Given the description of an element on the screen output the (x, y) to click on. 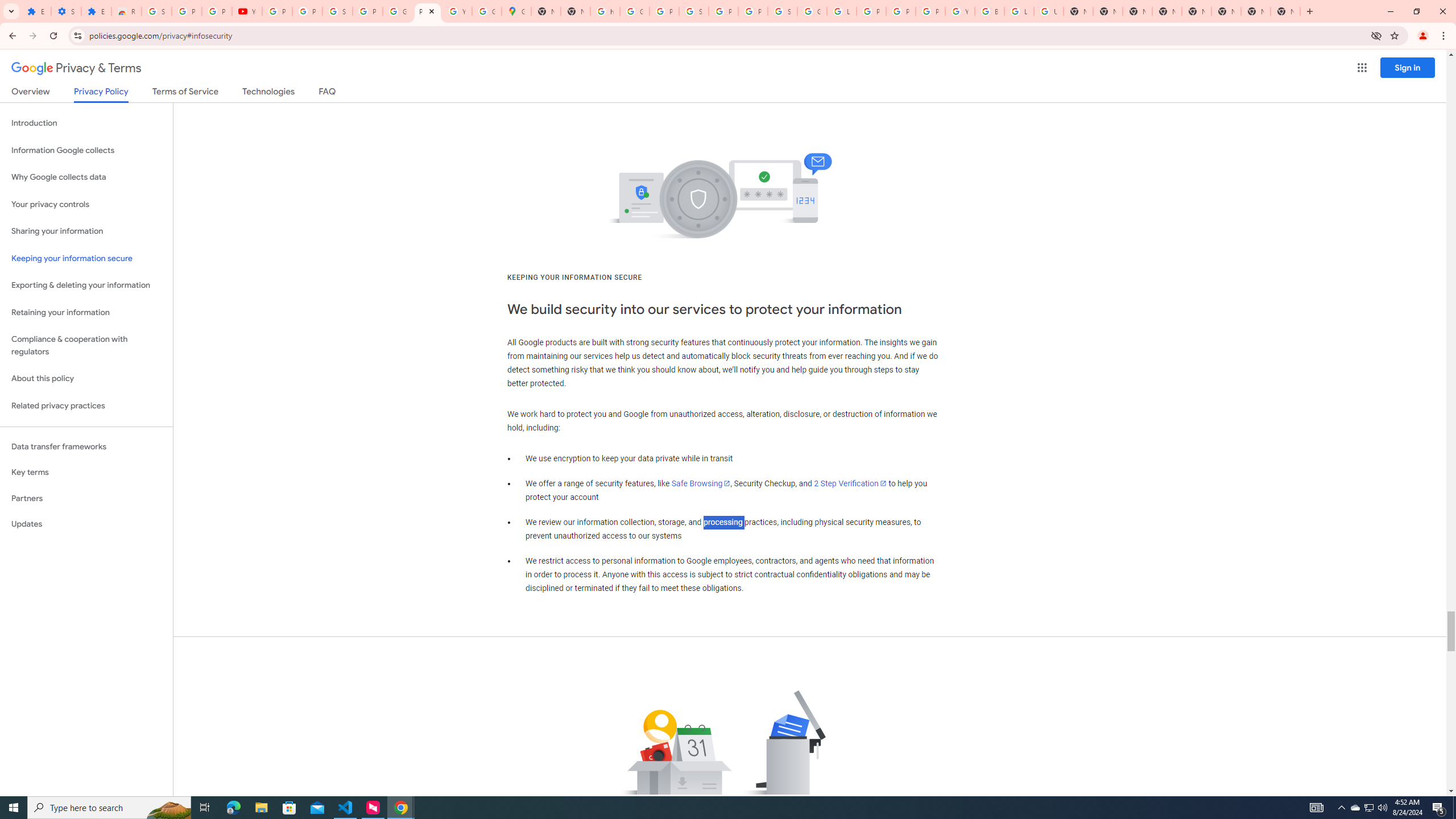
Extensions (95, 11)
Sign in - Google Accounts (337, 11)
https://scholar.google.com/ (604, 11)
